Given the description of an element on the screen output the (x, y) to click on. 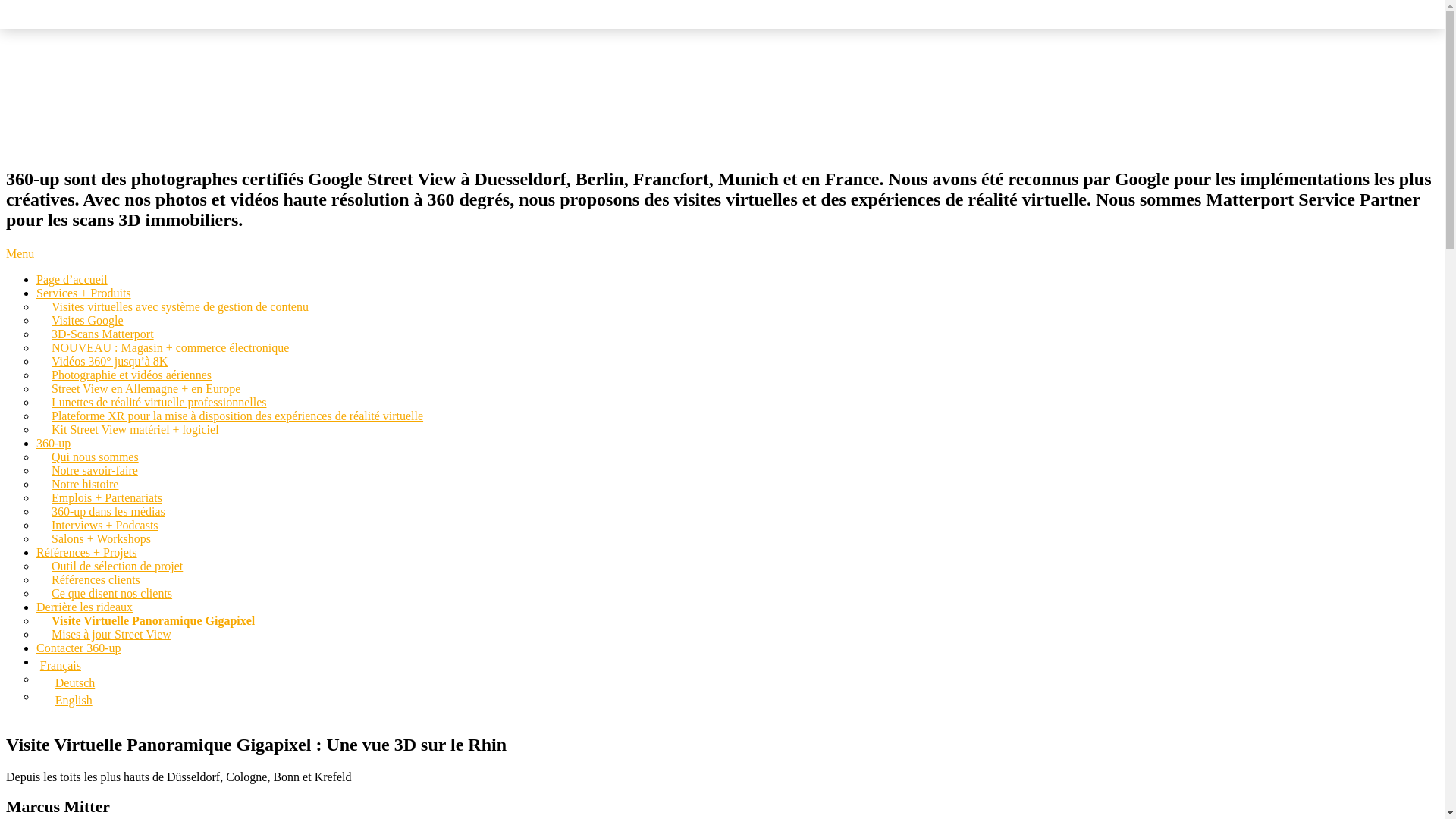
360-up Element type: text (53, 442)
English Element type: text (735, 700)
Street View en Allemagne + en Europe Element type: text (145, 388)
Interviews + Podcasts Element type: text (104, 524)
Notre histoire Element type: text (84, 483)
Notre savoir-faire Element type: text (94, 470)
3D-Scans Matterport Element type: text (102, 333)
Qui nous sommes Element type: text (94, 456)
Visites Google Element type: text (87, 319)
Contacter 360-up Element type: text (78, 647)
Services + Produits Element type: text (83, 292)
Salons + Workshops Element type: text (100, 538)
Emplois + Partenariats Element type: text (106, 497)
Deutsch Element type: text (735, 683)
Visite Virtuelle Panoramique Gigapixel Element type: text (152, 620)
Menu Element type: text (20, 253)
Ce que disent nos clients Element type: text (111, 592)
